Given the description of an element on the screen output the (x, y) to click on. 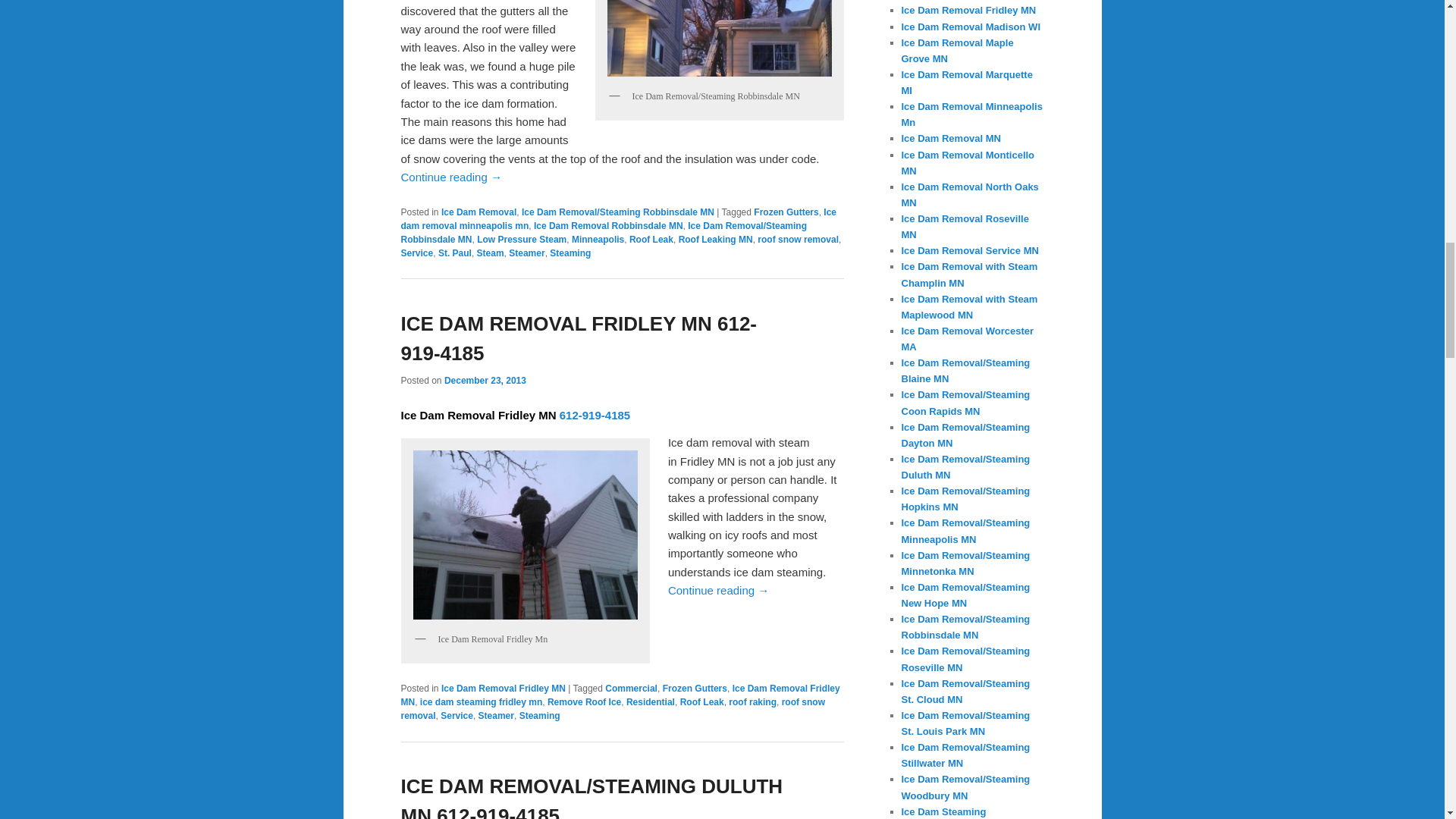
Ice Dam Removal Fridley Mn (525, 534)
2:23 am (484, 380)
